Given the description of an element on the screen output the (x, y) to click on. 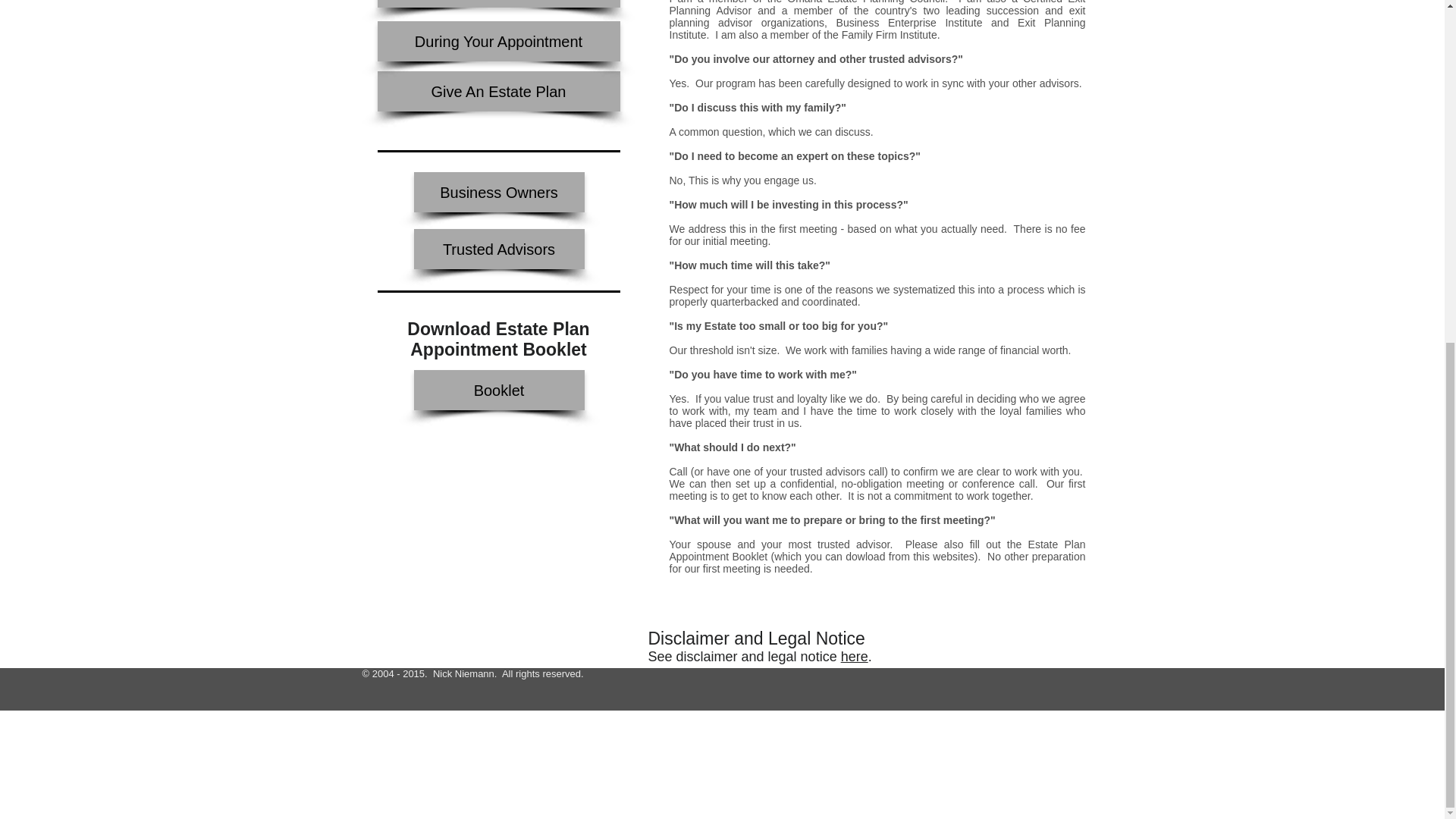
Give An Estate Plan (498, 91)
Booklet (499, 390)
Make A Referral (498, 3)
here (854, 656)
During Your Appointment (498, 41)
Trusted Advisors (499, 249)
Business Owners (499, 191)
